Given the description of an element on the screen output the (x, y) to click on. 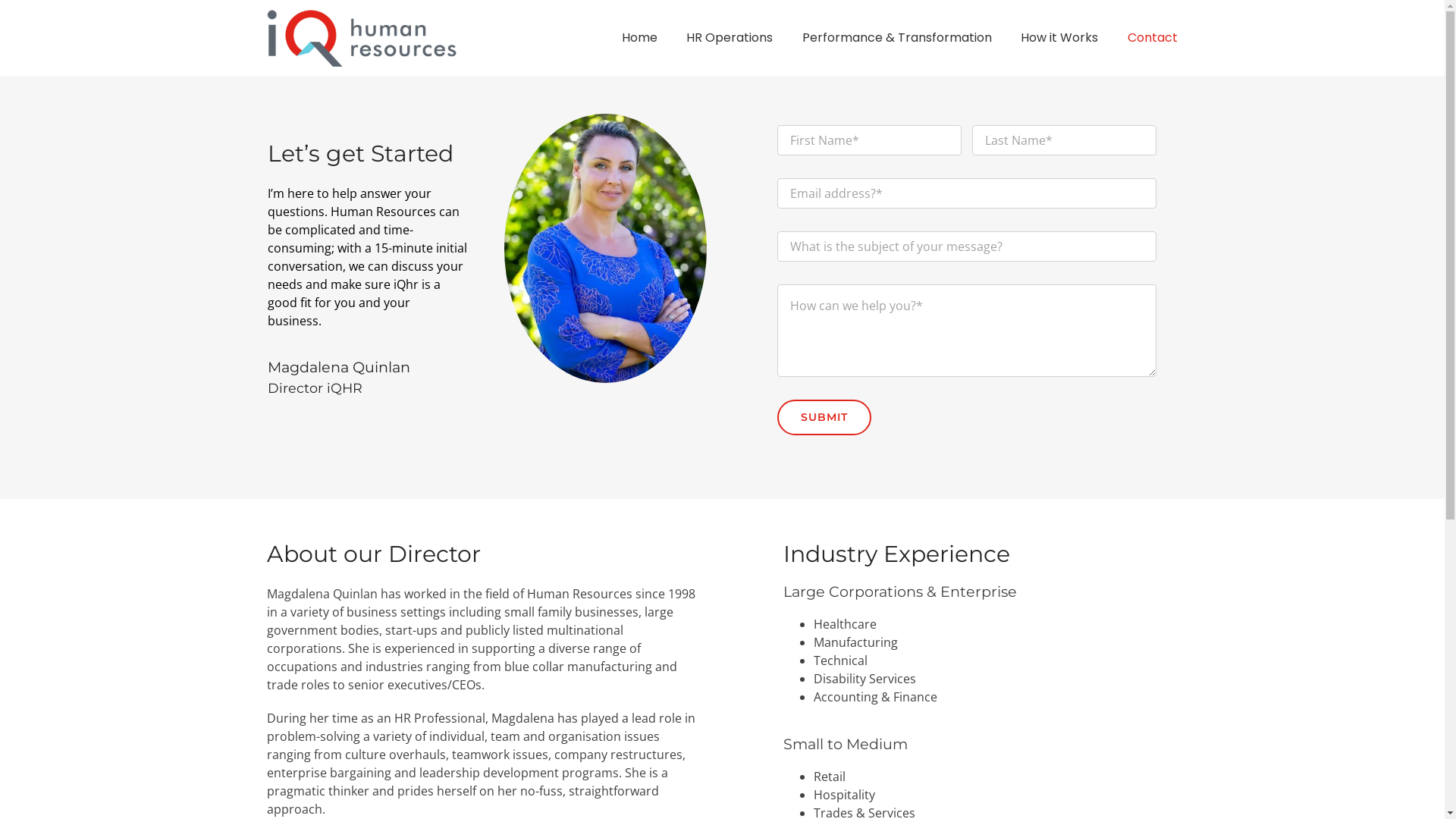
Contact Element type: text (1152, 37)
Madgalena-Quinlan-v2 Element type: hover (605, 247)
HR Operations Element type: text (729, 37)
Home Element type: text (639, 37)
How it Works Element type: text (1059, 37)
SUBMIT Element type: text (824, 417)
Performance & Transformation Element type: text (896, 37)
